Given the description of an element on the screen output the (x, y) to click on. 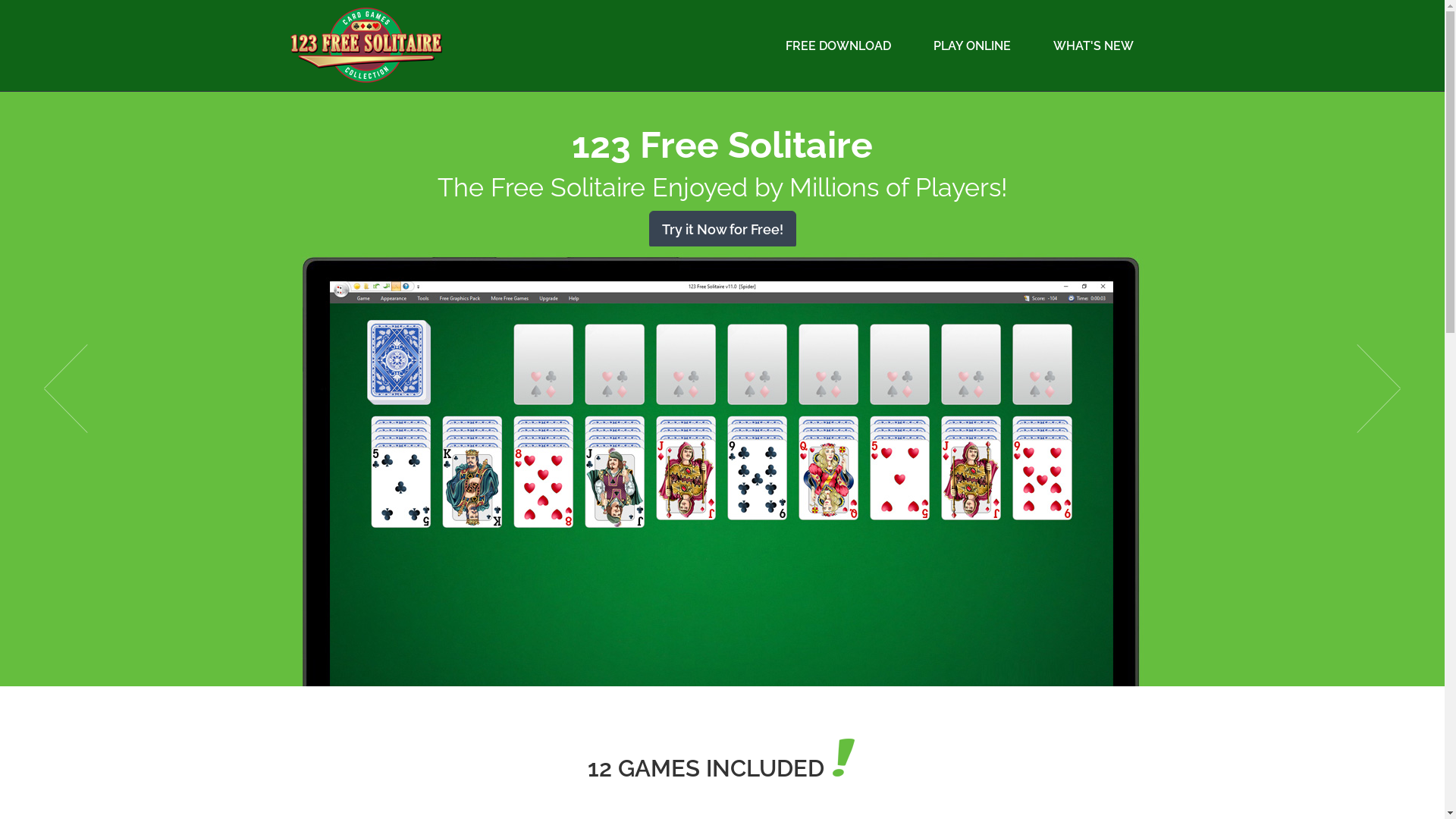
FREE DOWNLOAD Element type: text (838, 45)
PLAY ONLINE Element type: text (971, 45)
Try it Now for Free! Element type: text (722, 229)
WHAT'S NEW Element type: text (1092, 45)
